Given the description of an element on the screen output the (x, y) to click on. 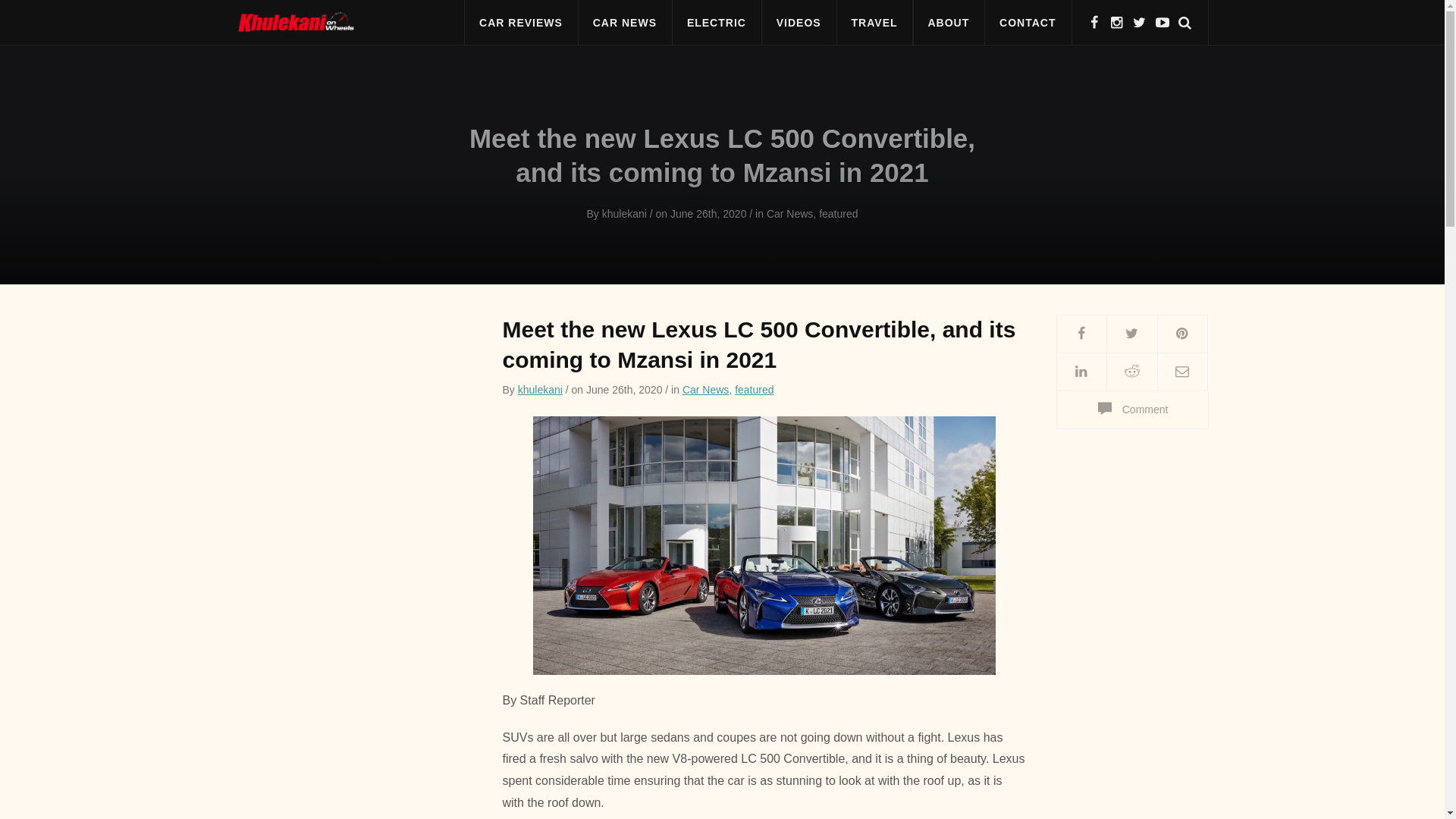
khulekani (624, 214)
ABOUT (948, 22)
khulekani (540, 389)
Car News (789, 214)
ELECTRIC (716, 22)
Comment (1131, 409)
CONTACT (1027, 22)
CAR REVIEWS (521, 22)
CAR NEWS (624, 22)
featured (837, 214)
TRAVEL (873, 22)
featured (754, 389)
Car News (705, 389)
VIDEOS (798, 22)
